Given the description of an element on the screen output the (x, y) to click on. 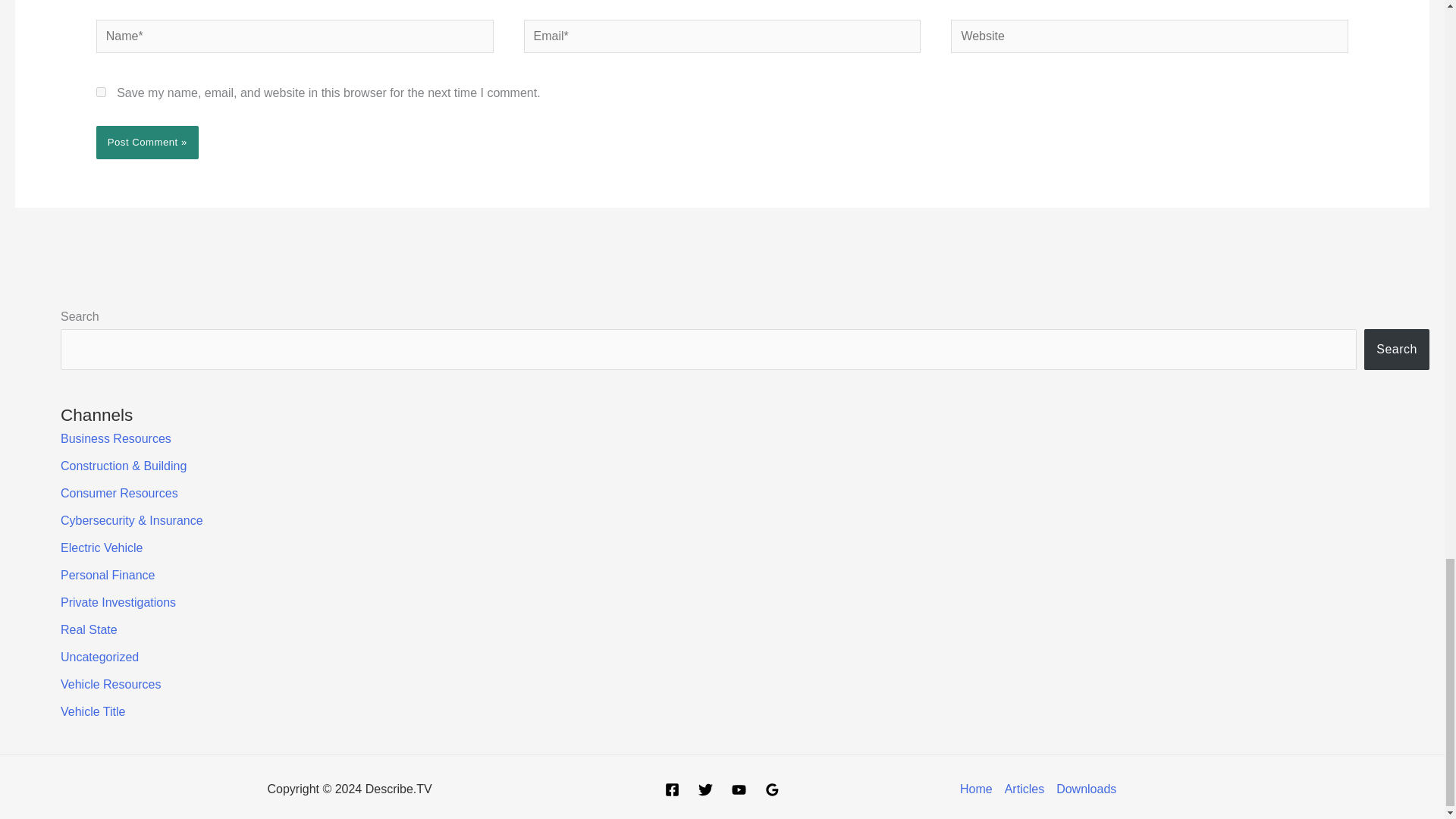
Vehicle Resources (111, 684)
Personal Finance (108, 574)
Uncategorized (99, 656)
Consumer Resources (119, 492)
Search (1396, 349)
Electric Vehicle (101, 547)
Private Investigations (118, 602)
Business Resources (116, 438)
Downloads (1082, 789)
Vehicle Title (93, 711)
